Given the description of an element on the screen output the (x, y) to click on. 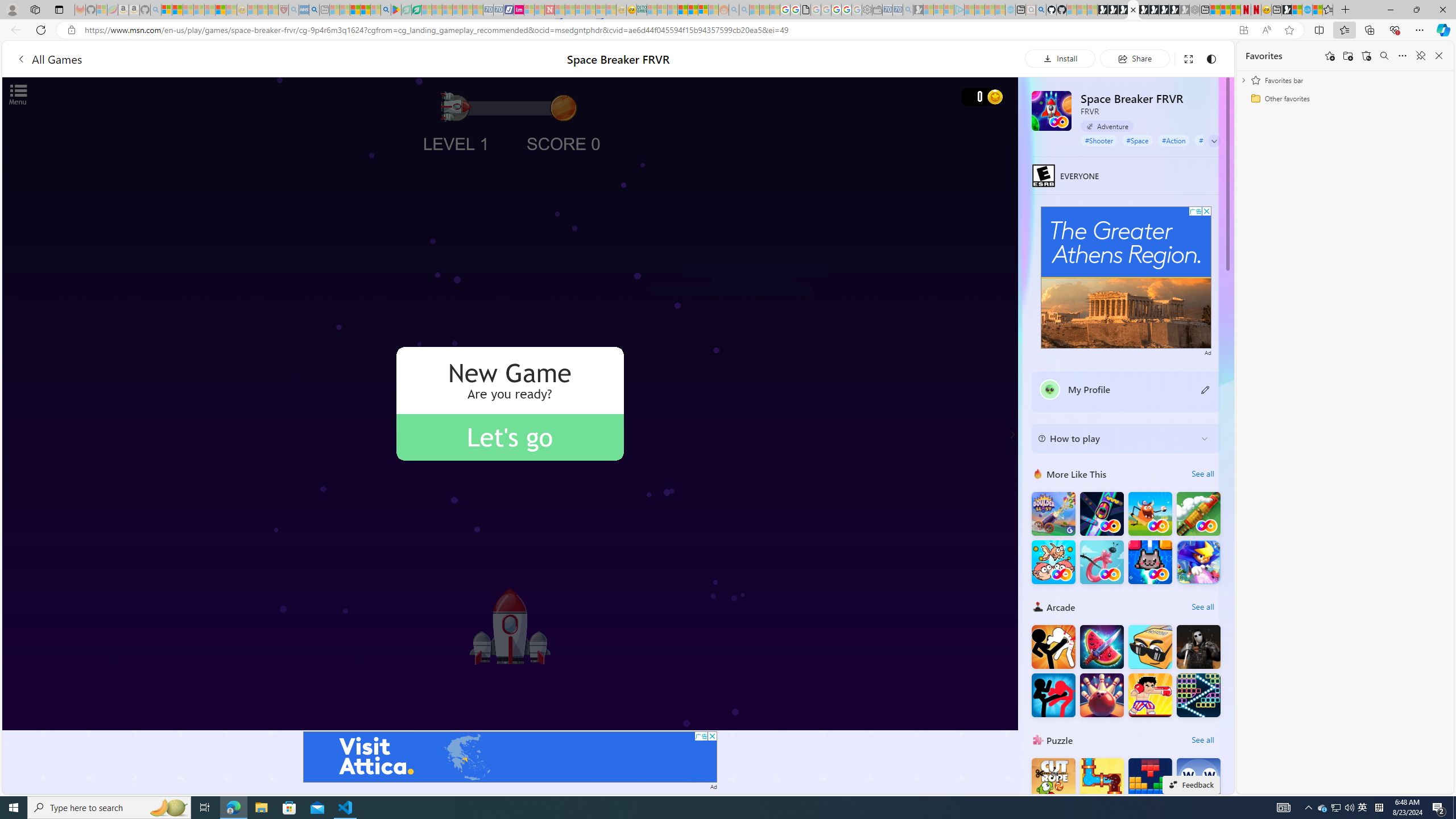
Stickman Fighter : Mega Brawl (1053, 646)
Castle Of Magic (1198, 562)
